Given the description of an element on the screen output the (x, y) to click on. 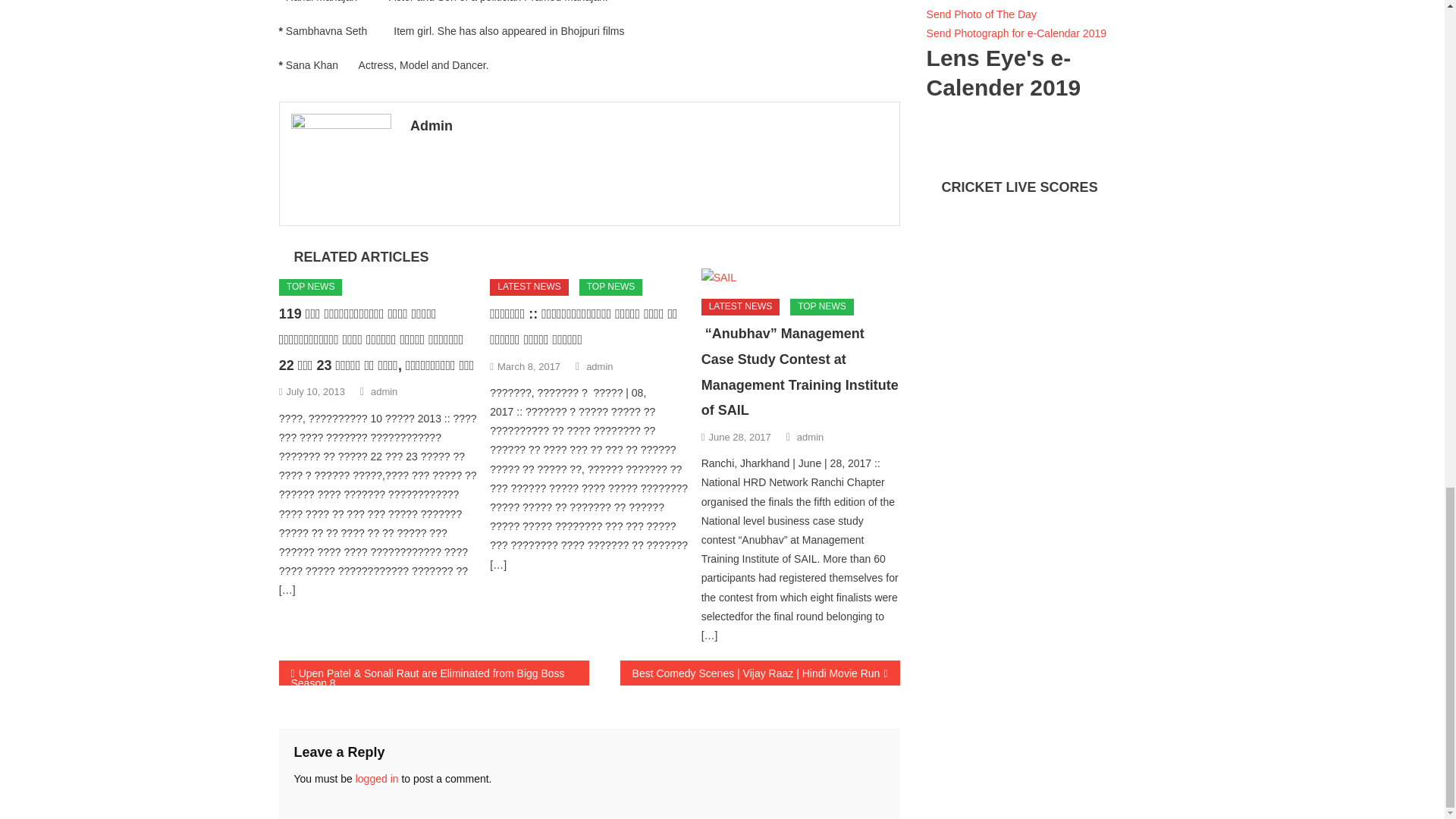
Photograph for e-Calendar 2019 (1016, 33)
Send Photo of The Day (981, 14)
Admin (649, 125)
